Given the description of an element on the screen output the (x, y) to click on. 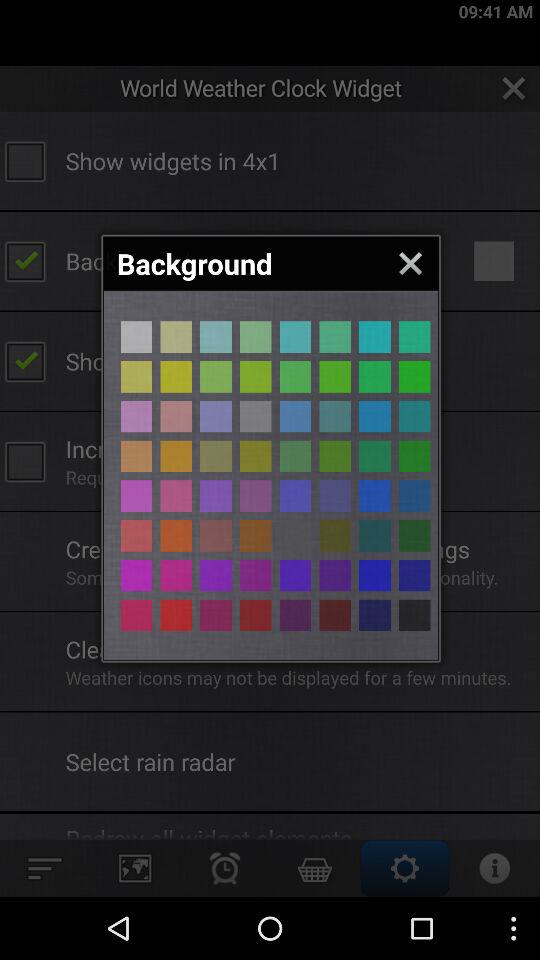
select navy background color (374, 575)
